Given the description of an element on the screen output the (x, y) to click on. 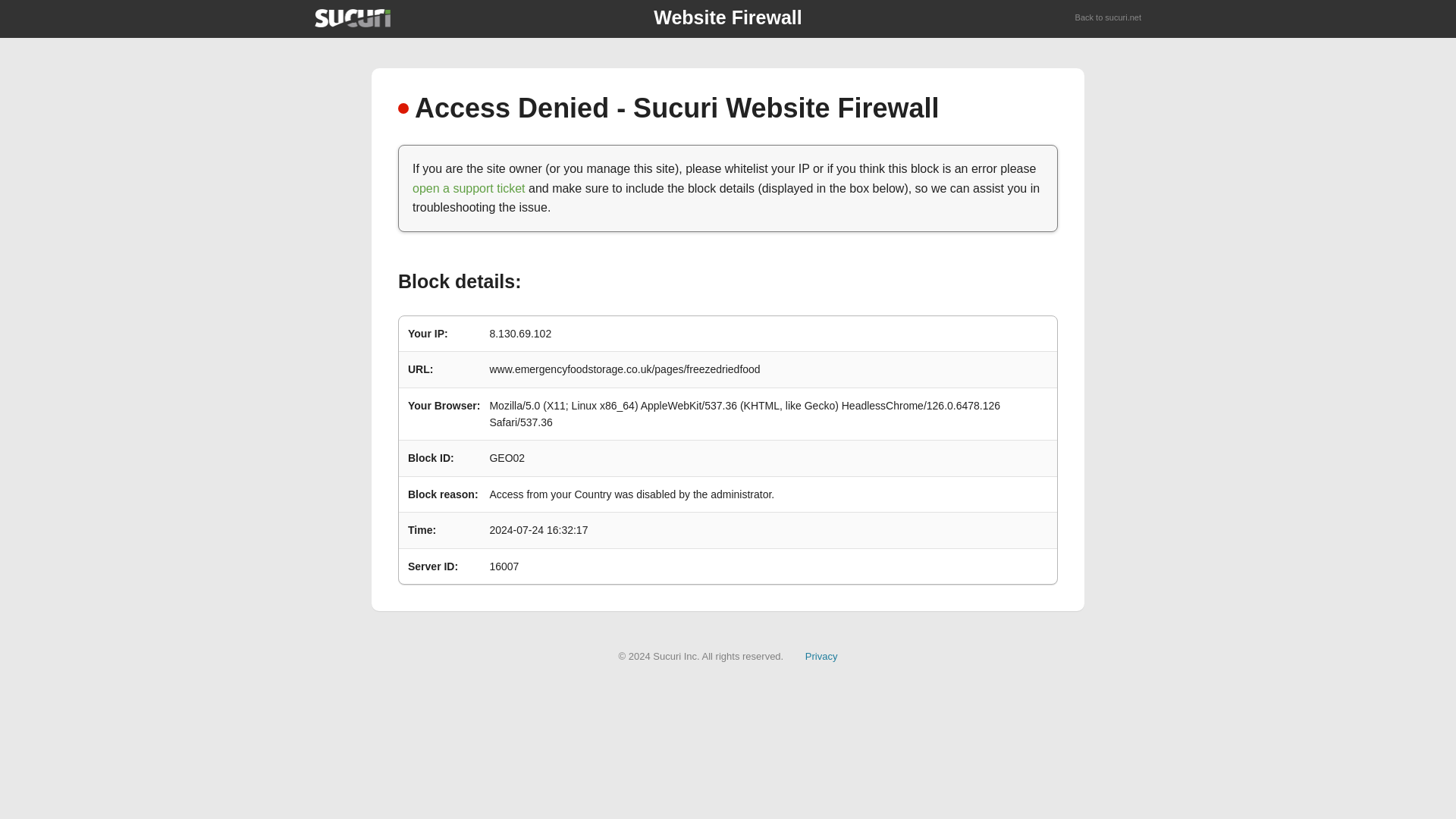
open a support ticket (468, 187)
Privacy (821, 655)
Back to sucuri.net (1108, 18)
